Given the description of an element on the screen output the (x, y) to click on. 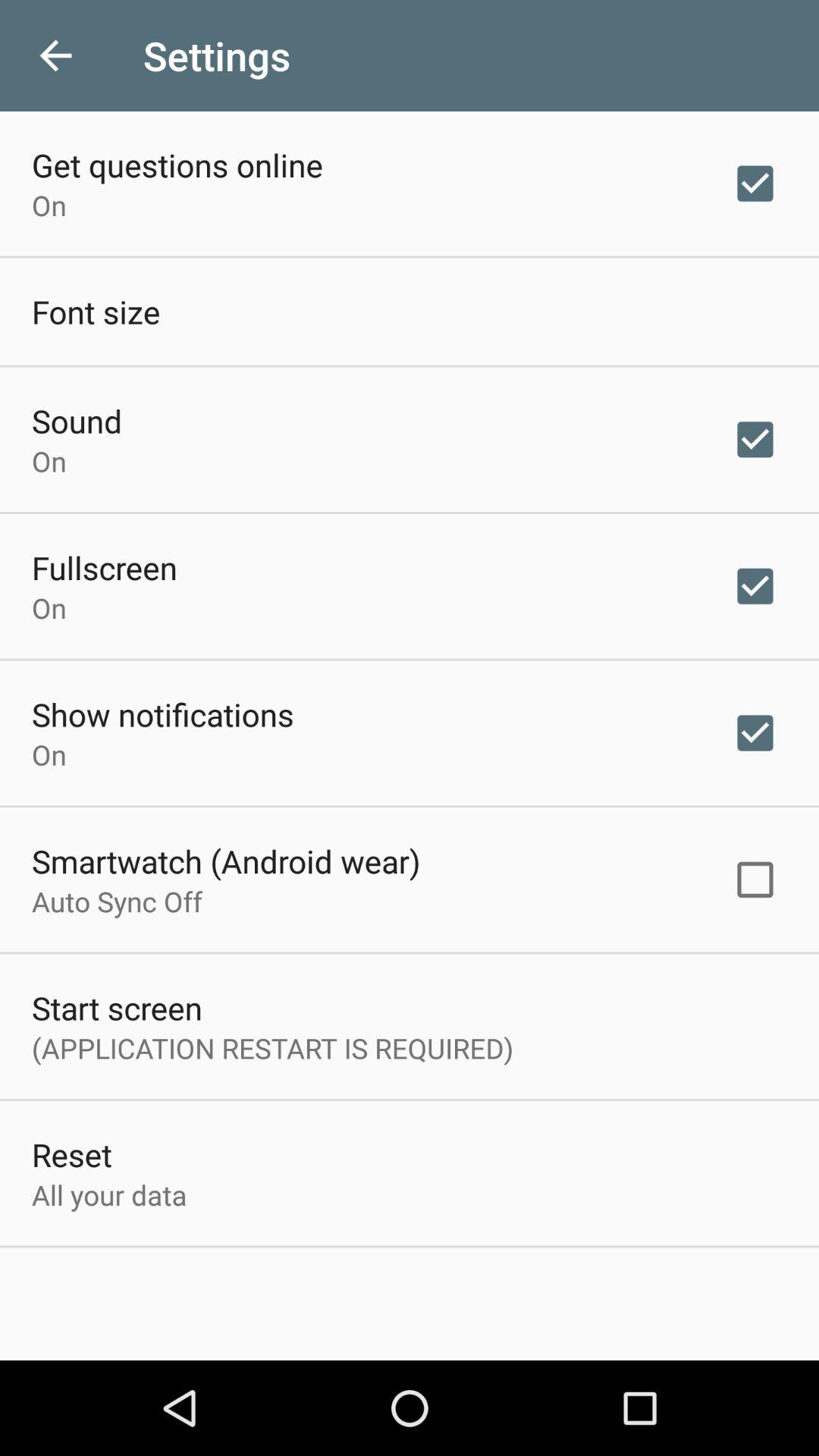
select the auto sync off (116, 901)
